Given the description of an element on the screen output the (x, y) to click on. 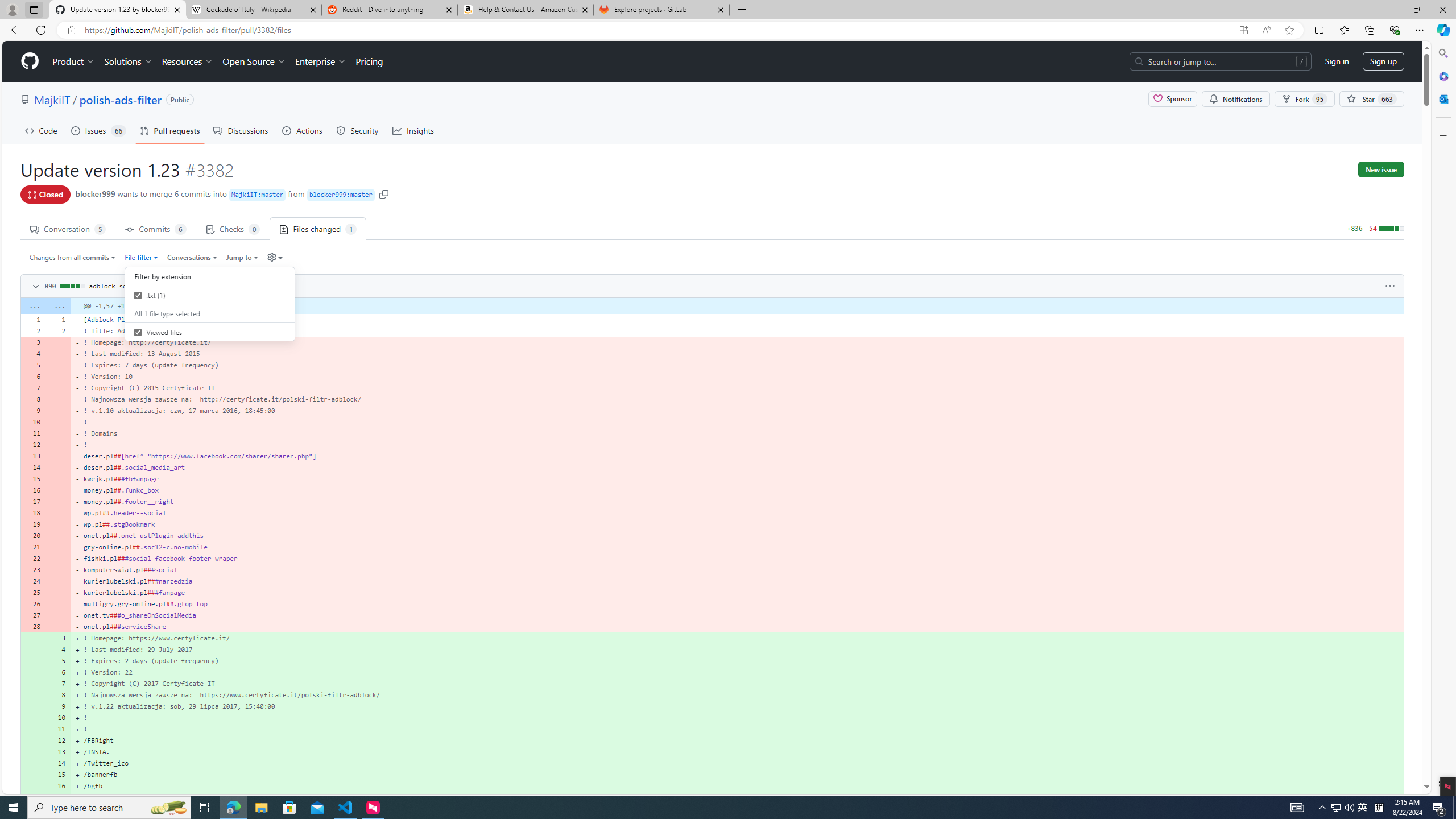
Security (357, 130)
All 1 file type selected (210, 313)
11 (58, 728)
blocker999 (95, 193)
Open Source (254, 60)
16 (58, 785)
14 (58, 763)
6 (58, 672)
adblock_social_filters/adblock_social_list.txt (175, 285)
2 (58, 330)
